Given the description of an element on the screen output the (x, y) to click on. 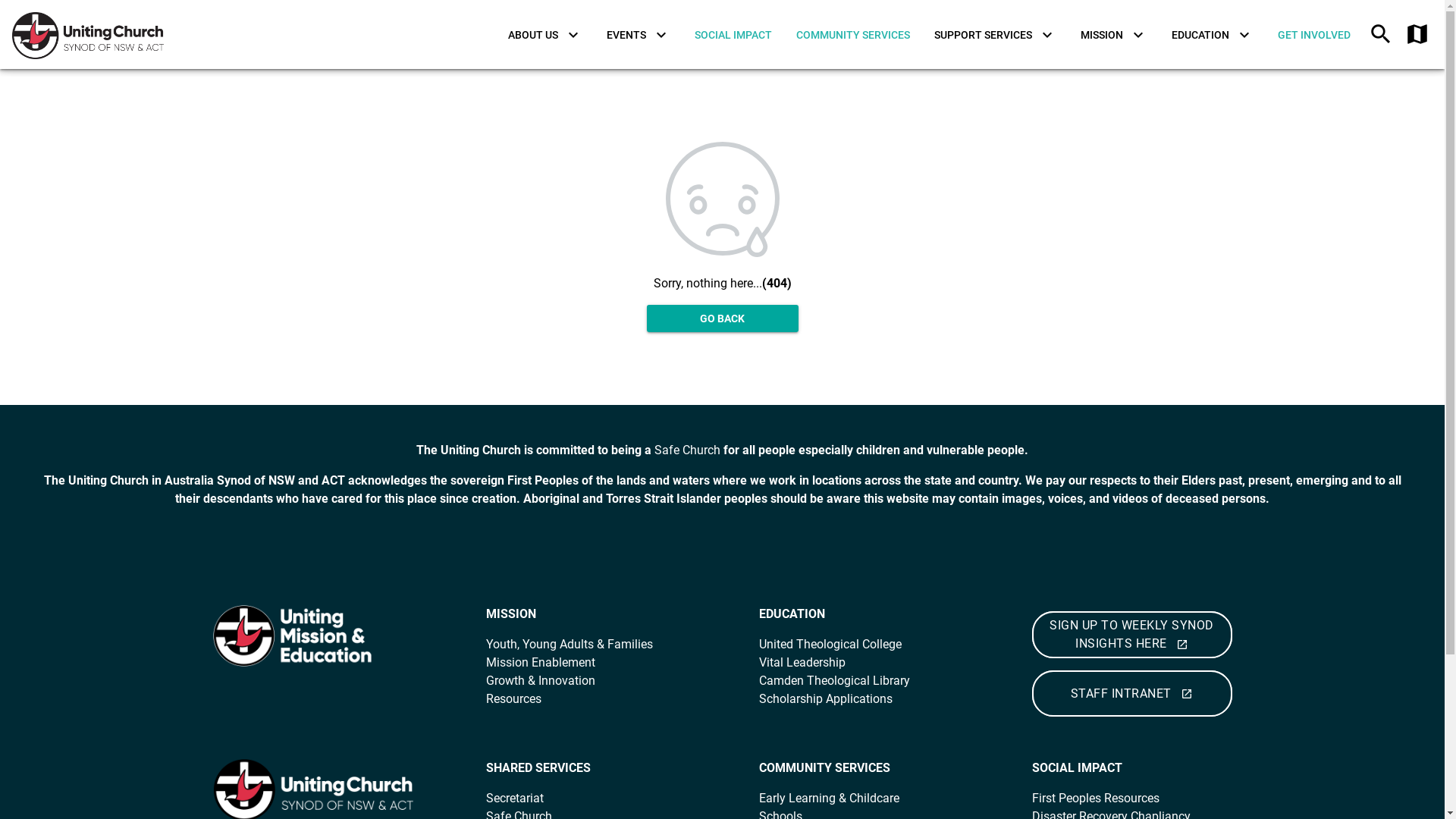
Growth & Innovation Element type: text (539, 680)
Safe Church Element type: text (687, 449)
Early Learning & Childcare Element type: text (828, 797)
EDUCATION
expand_more Element type: text (1212, 34)
Secretariat  Element type: text (515, 797)
United Theological College  Element type: text (830, 644)
First Peoples Resources  Element type: text (1096, 797)
SIGN UP TO WEEKLY SYNOD INSIGHTS HERE
launch Element type: text (1131, 634)
Camden Theological Library   Element type: text (836, 680)
COMMUNITY SERVICES Element type: text (853, 34)
GET INVOLVED Element type: text (1313, 34)
SOCIAL IMPACT Element type: text (733, 34)
Mission Enablement Element type: text (539, 662)
map Element type: text (1417, 34)
EVENTS
expand_more Element type: text (638, 34)
search Element type: text (1380, 34)
STAFF INTRANET
launch Element type: text (1131, 693)
Scholarship Applications Element type: text (824, 698)
MISSION
expand_more Element type: text (1113, 34)
Resources Element type: text (512, 698)
GO BACK Element type: text (721, 318)
SUPPORT SERVICES
expand_more Element type: text (995, 34)
Vital Leadership Element type: text (801, 662)
Youth, Young Adults & Families Element type: text (568, 644)
ABOUT US
expand_more Element type: text (544, 34)
